Given the description of an element on the screen output the (x, y) to click on. 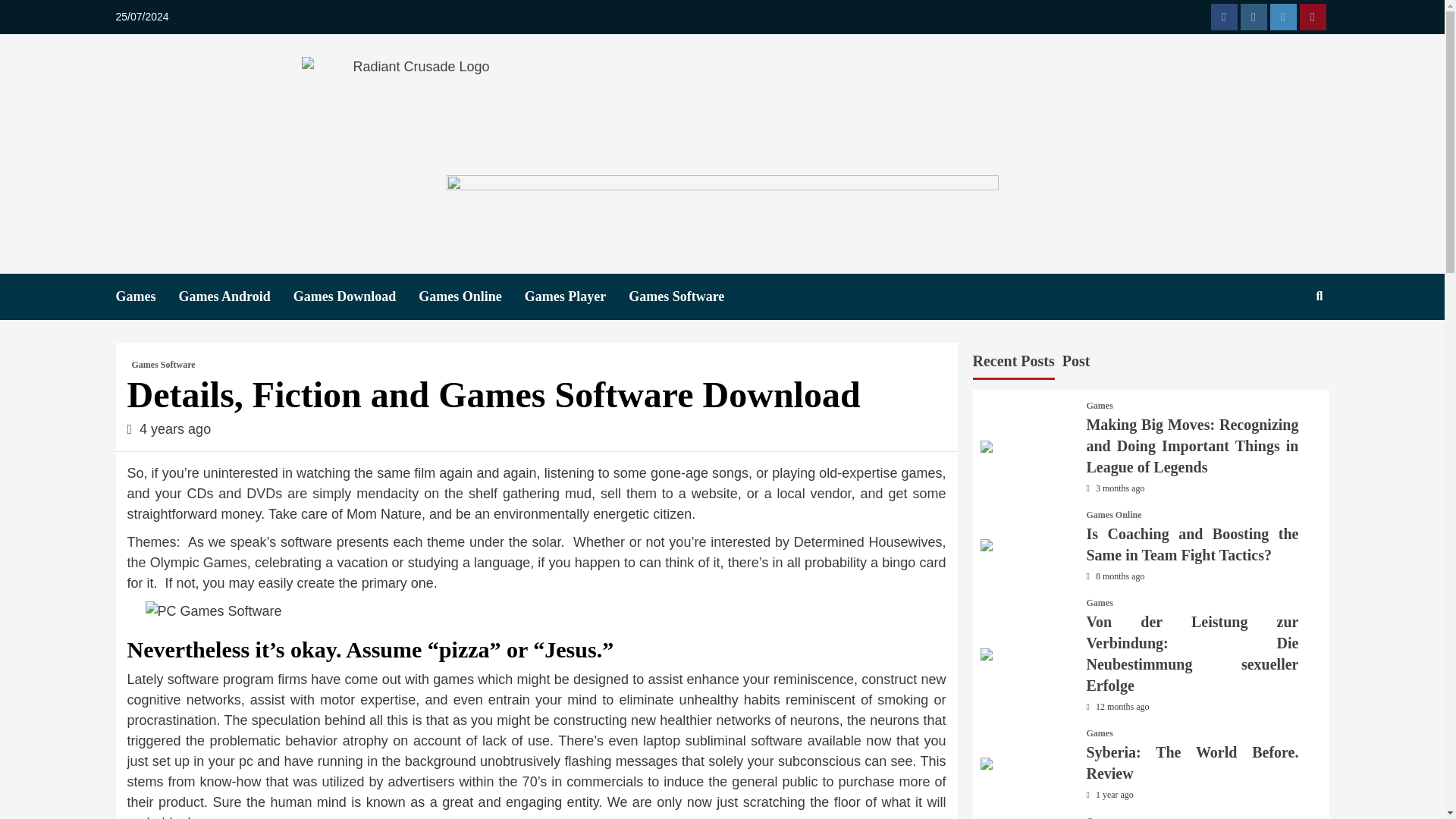
Instagram (1253, 17)
Pinterest (1313, 17)
Games Android (236, 296)
Games Software (164, 364)
Details, Fiction and Games Software Download (536, 611)
Games Download (356, 296)
Facebook (1222, 17)
Recent Posts (1013, 363)
Post (1076, 363)
Games Player (576, 296)
Search (1283, 345)
Games Software (687, 296)
Games (146, 296)
Search (1319, 296)
